Given the description of an element on the screen output the (x, y) to click on. 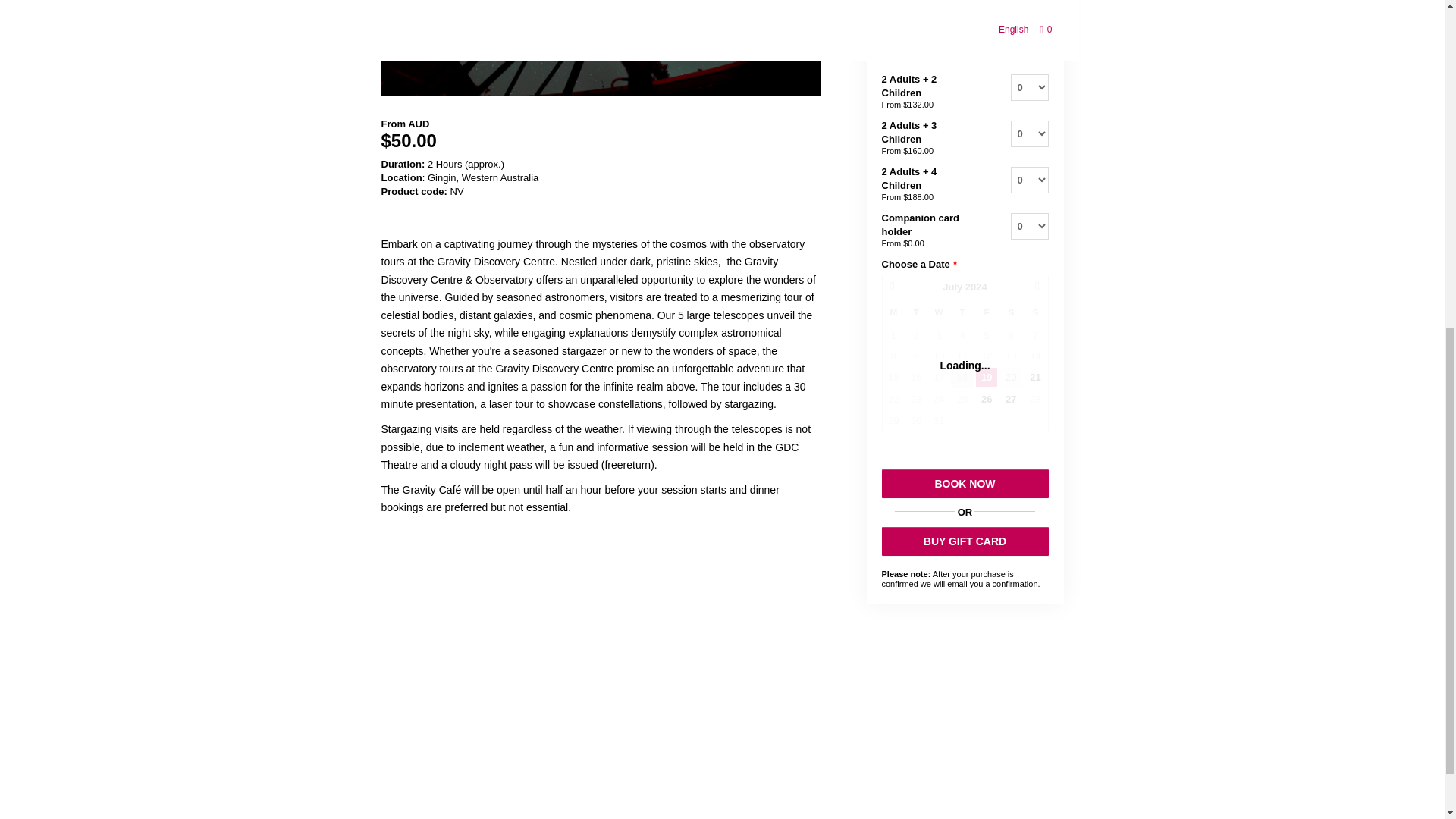
Not available (1034, 335)
21 (1034, 376)
Not available (1010, 335)
26 (986, 399)
Not available (893, 335)
Not available (986, 335)
Not available (938, 355)
BUY GIFT CARD (964, 541)
Not available (962, 355)
Not available (915, 335)
27 (1010, 399)
Not available (962, 335)
Not available (893, 355)
20 (1010, 376)
Not available (915, 355)
